Given the description of an element on the screen output the (x, y) to click on. 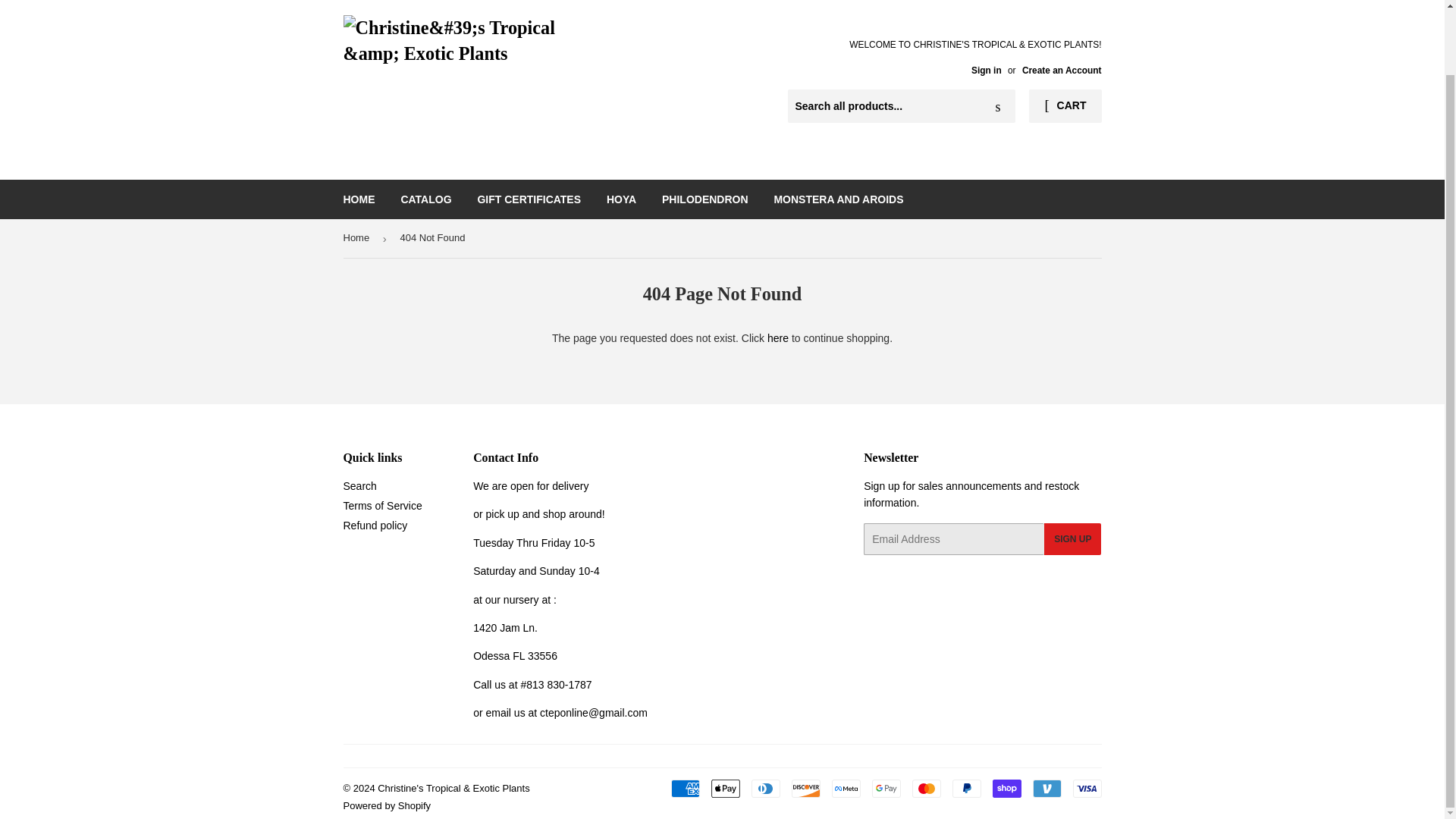
Sign in (986, 70)
here (778, 337)
SIGN UP (1071, 539)
Google Pay (886, 788)
HOME (359, 199)
Mastercard (925, 788)
Meta Pay (845, 788)
MONSTERA AND AROIDS (837, 199)
PayPal (966, 788)
CART (1064, 105)
Search (358, 485)
HOYA (621, 199)
American Express (683, 788)
CATALOG (425, 199)
Venmo (1046, 788)
